Given the description of an element on the screen output the (x, y) to click on. 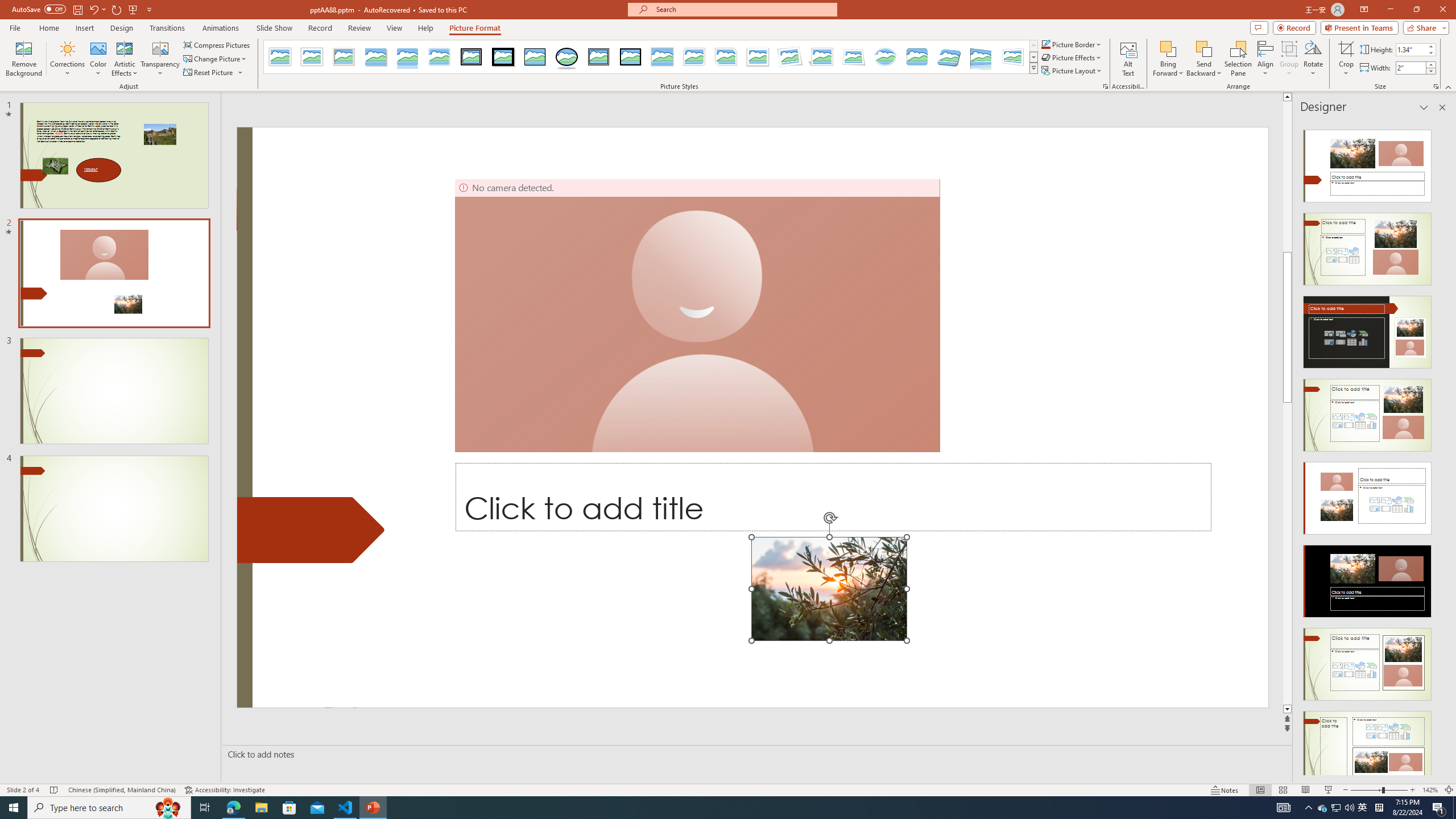
Shape Height (1410, 49)
Beveled Matte, White (312, 56)
Bevel Perspective (949, 56)
Reset Picture (208, 72)
Beveled Oval, Black (566, 56)
Reset Picture (214, 72)
AutomationID: PictureStylesGallery (650, 56)
Decorative Locked (310, 530)
Perspective Shadow, White (821, 56)
Bevel Rectangle (917, 56)
Snip Diagonal Corner, White (726, 56)
Rotate (1312, 58)
